Given the description of an element on the screen output the (x, y) to click on. 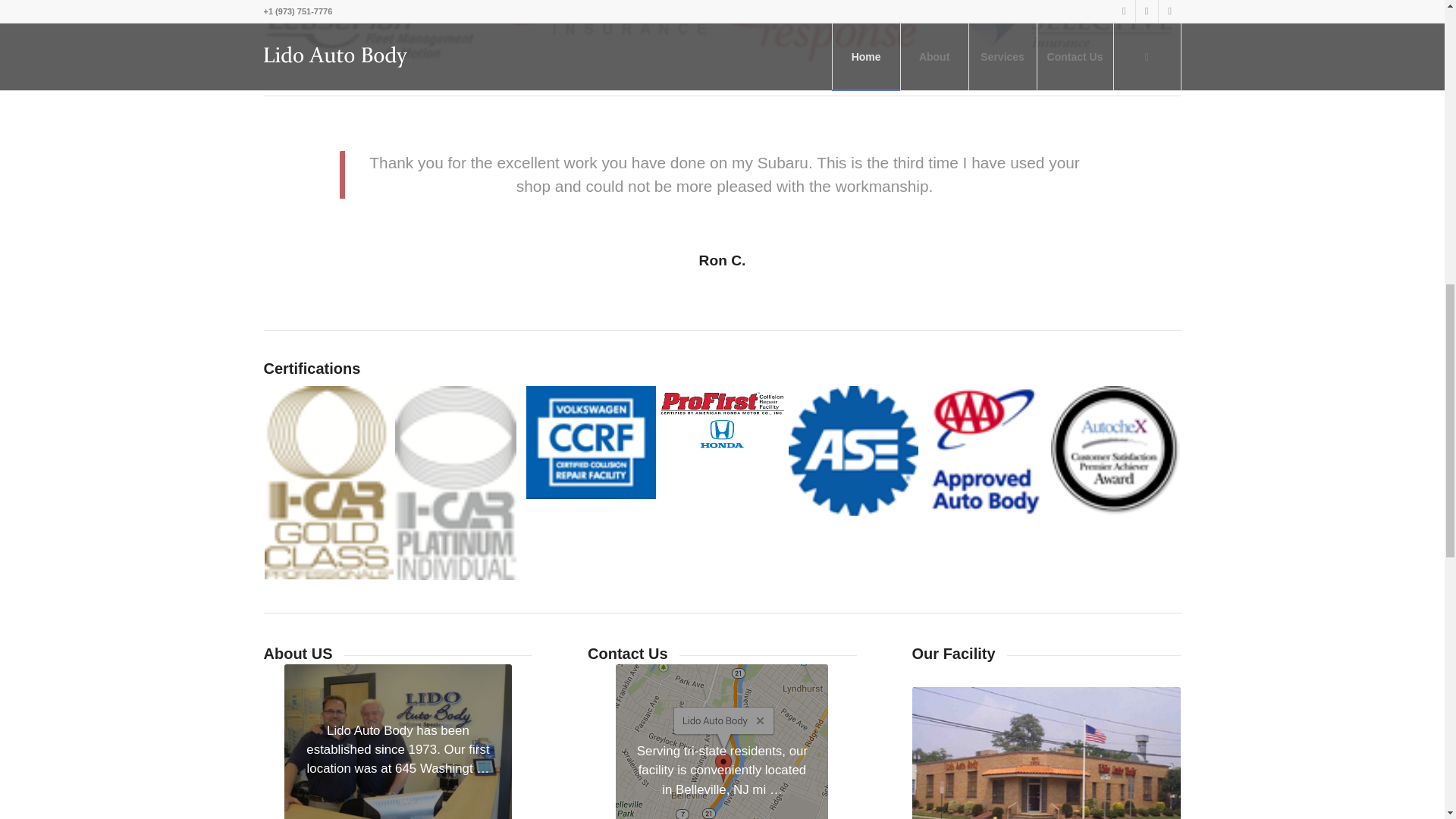
01 (1046, 753)
Screen Shot 2013-09-28 at 12.28.11 PM (721, 741)
